Given the description of an element on the screen output the (x, y) to click on. 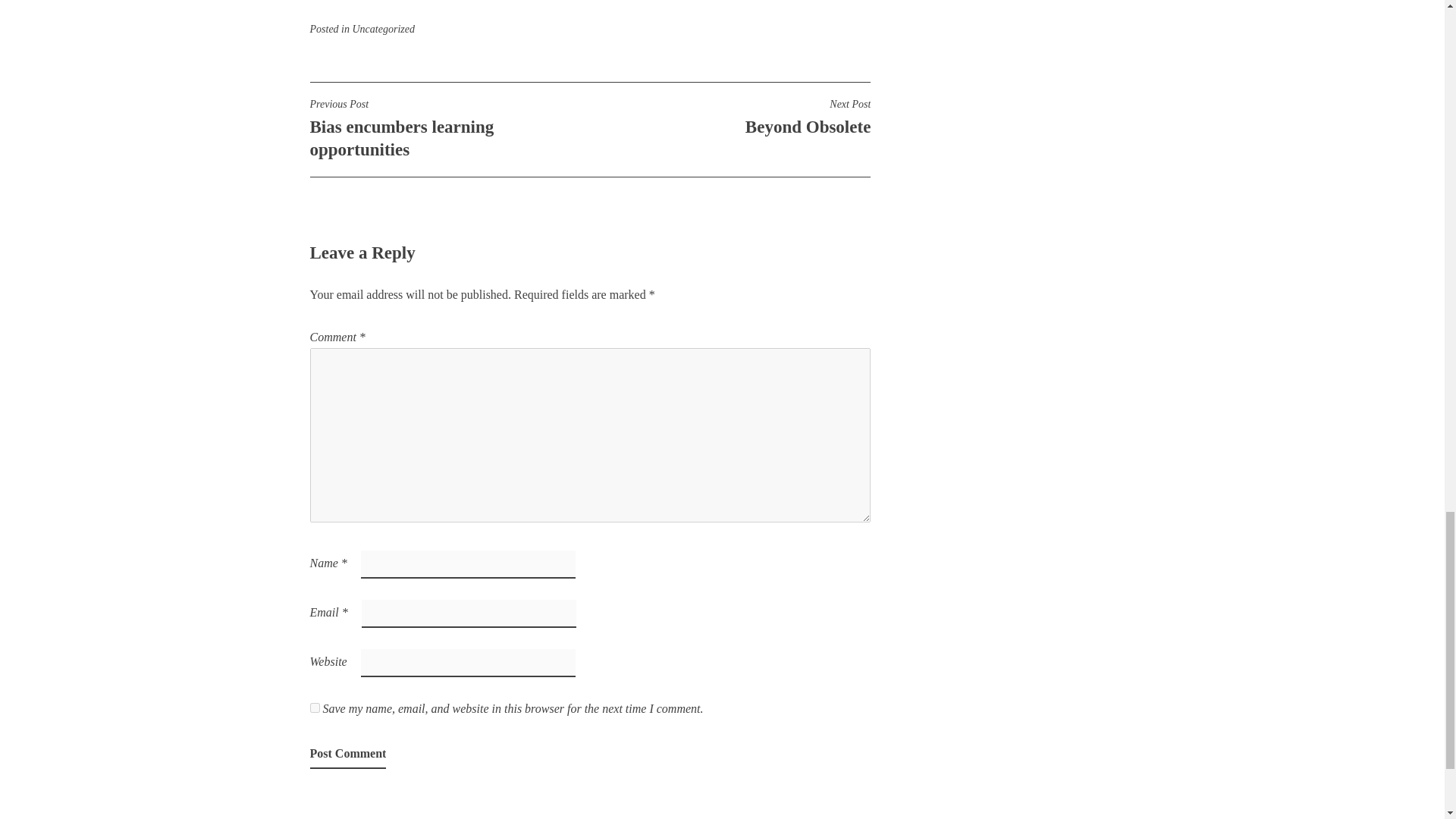
Uncategorized (382, 29)
yes (313, 707)
Post Comment (729, 116)
Post Comment (346, 755)
